Given the description of an element on the screen output the (x, y) to click on. 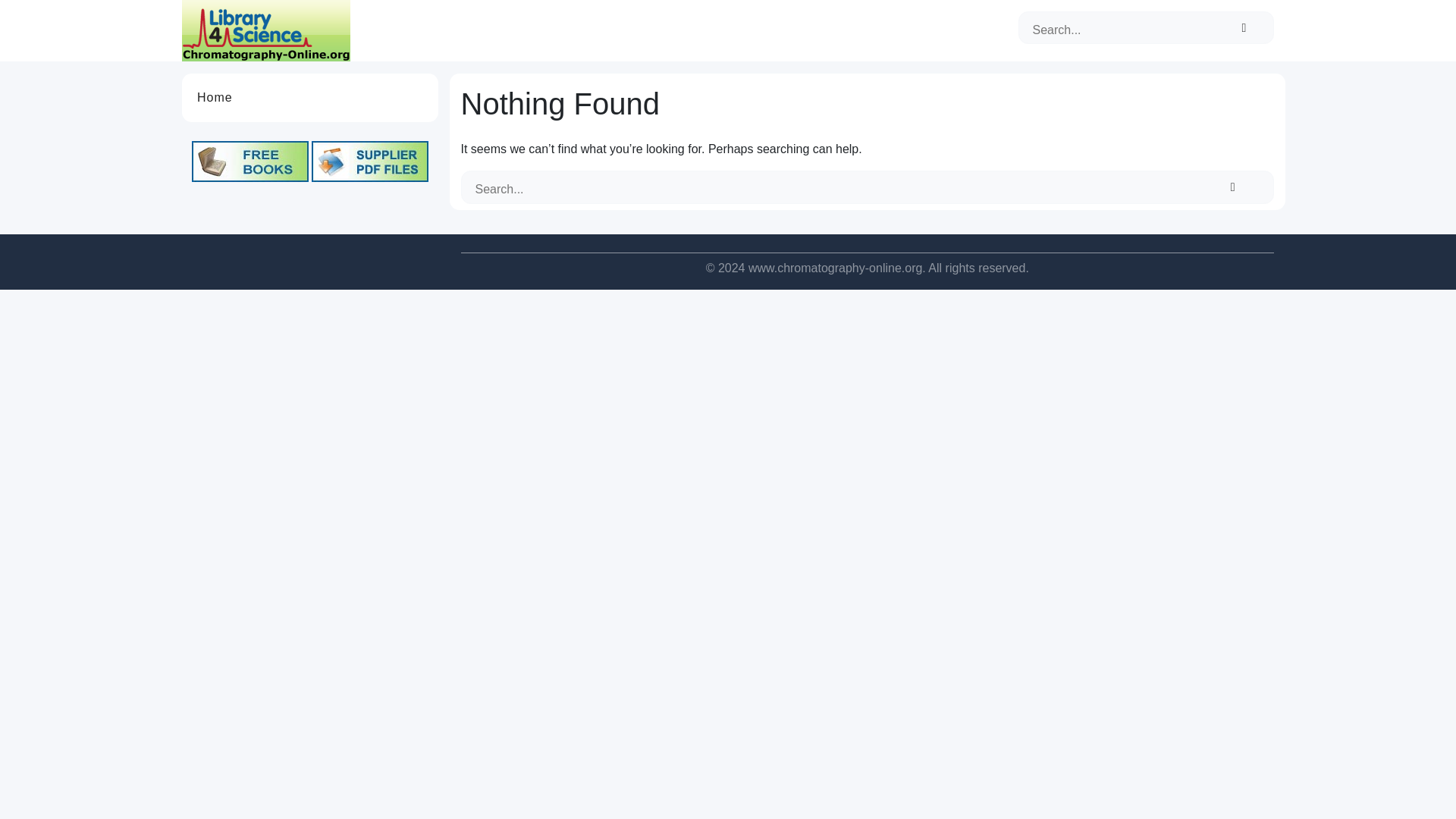
Free Books (250, 160)
Free Brochures (369, 160)
Home (214, 97)
chromatography-online (266, 29)
